Given the description of an element on the screen output the (x, y) to click on. 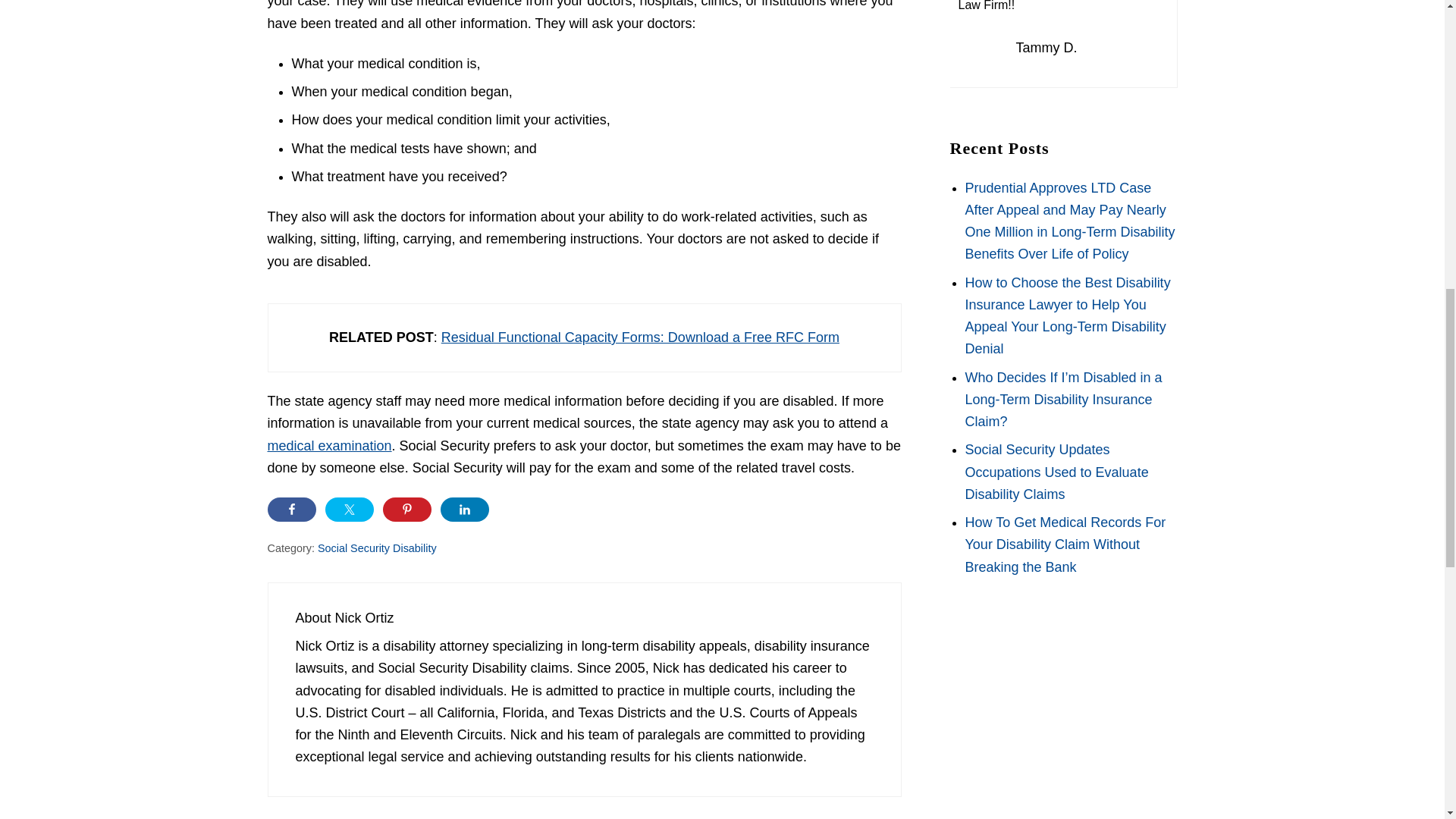
Share on Facebook (290, 509)
Share on Pinterest (405, 509)
Share on Twitter (348, 509)
Share on LinkedIn (463, 509)
